Given the description of an element on the screen output the (x, y) to click on. 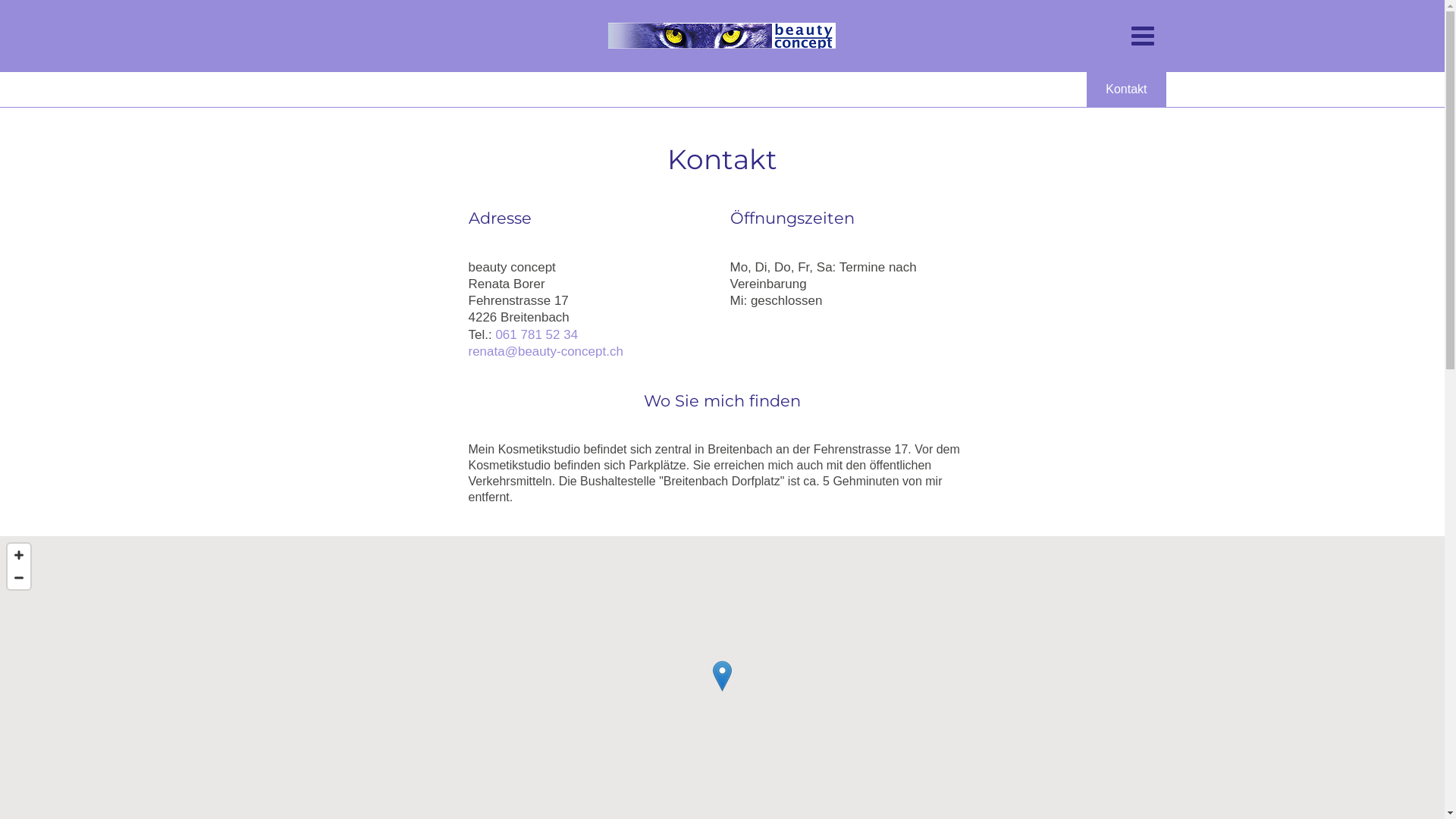
Kontakt Element type: text (1125, 89)
061 781 52 34 Element type: text (536, 334)
renata@beauty-concept.ch Element type: text (545, 351)
